Given the description of an element on the screen output the (x, y) to click on. 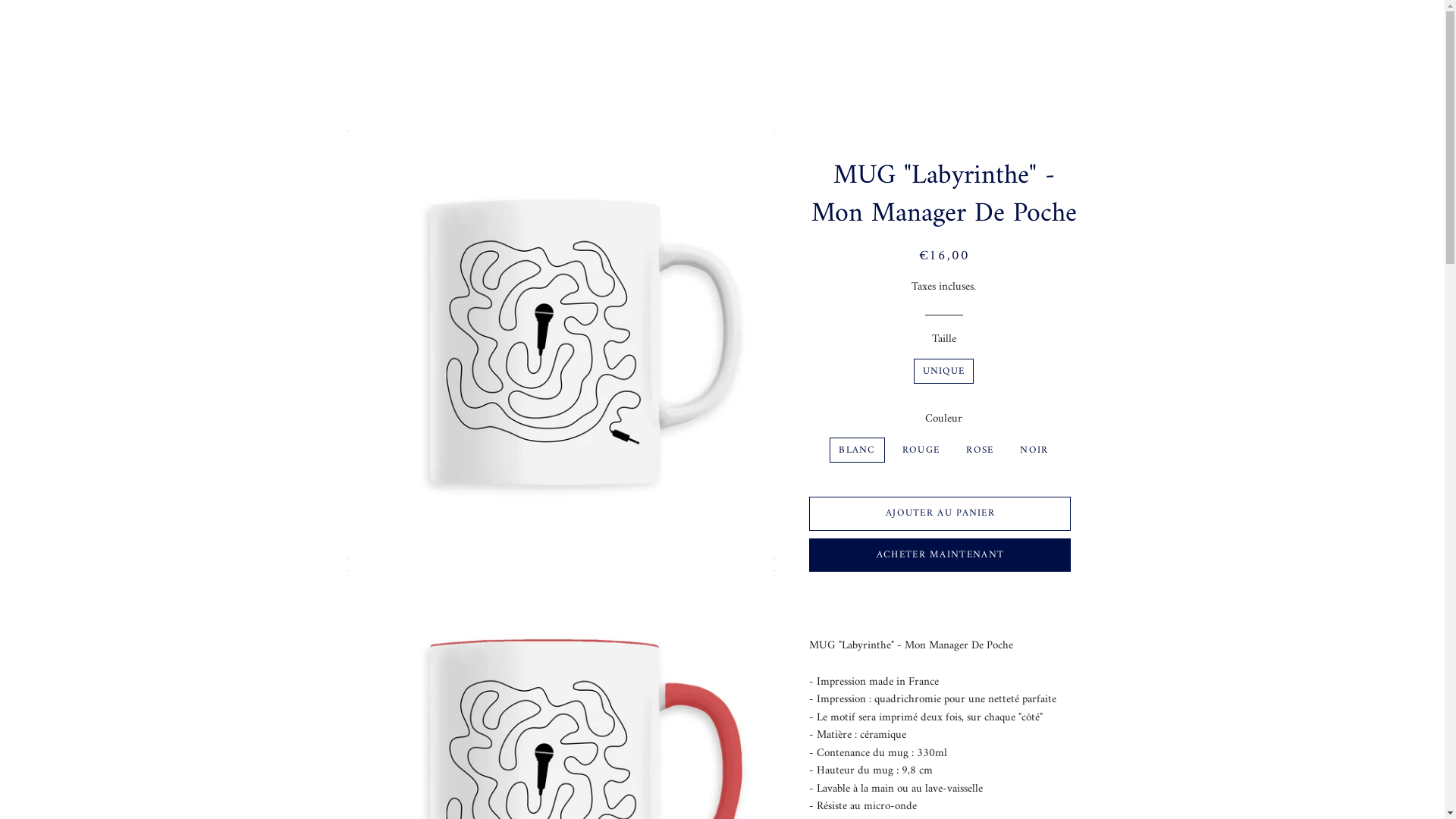
MON MANAGER DE POCHE Element type: text (832, 36)
BORIS ENGELS Element type: text (421, 34)
COACHING Element type: text (698, 36)
CONTACT Element type: text (964, 36)
ACHETER MAINTENANT Element type: text (939, 554)
PANIER Element type: text (1083, 34)
SE CONNECTER Element type: text (1021, 34)
AJOUTER AU PANIER Element type: text (939, 513)
RECHERCHER Element type: text (1052, 34)
